Given the description of an element on the screen output the (x, y) to click on. 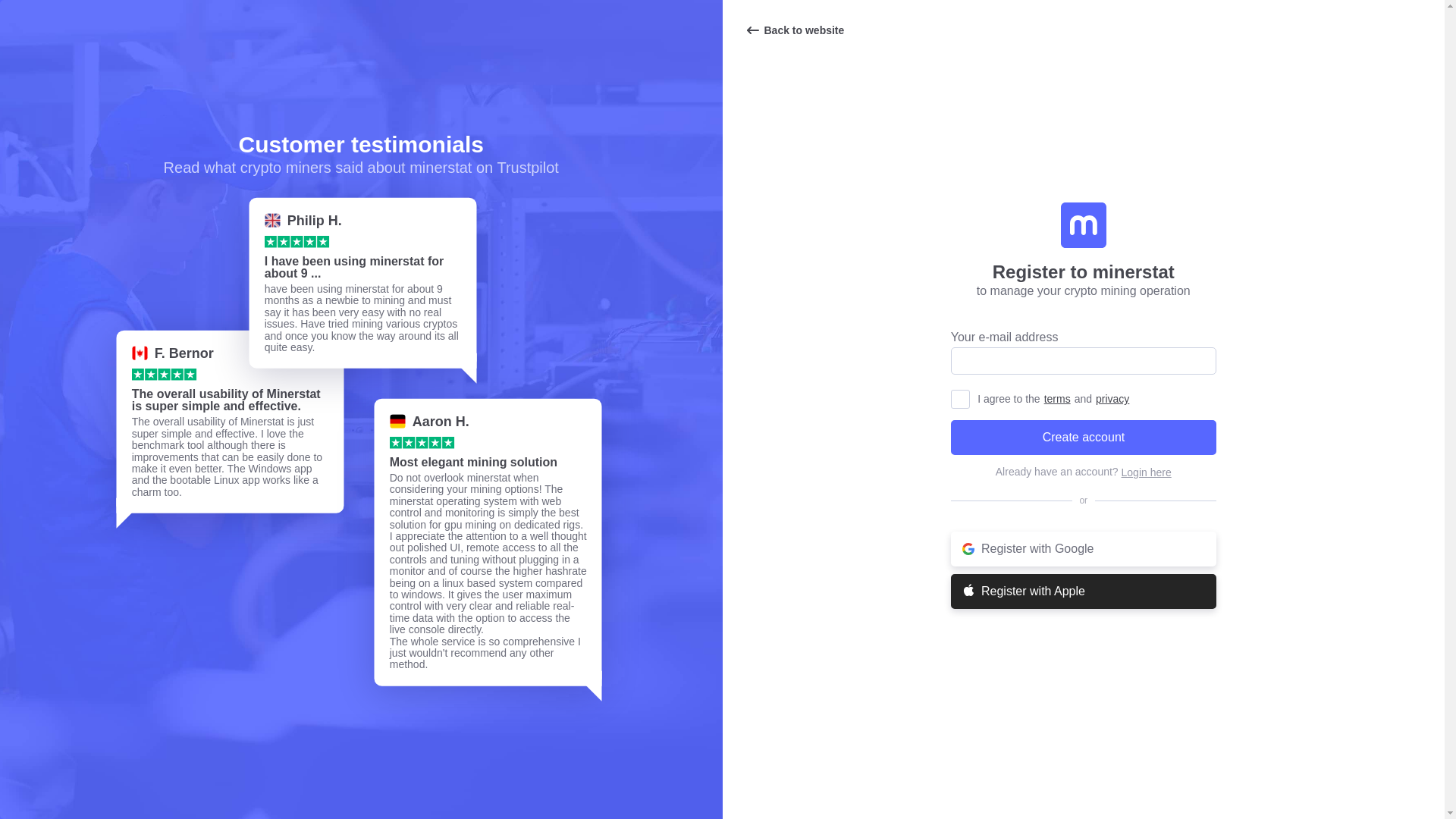
terms (1056, 398)
Login (1146, 472)
privacy (1112, 398)
Back to website (794, 29)
Login here (1146, 472)
Create account (1082, 437)
